Given the description of an element on the screen output the (x, y) to click on. 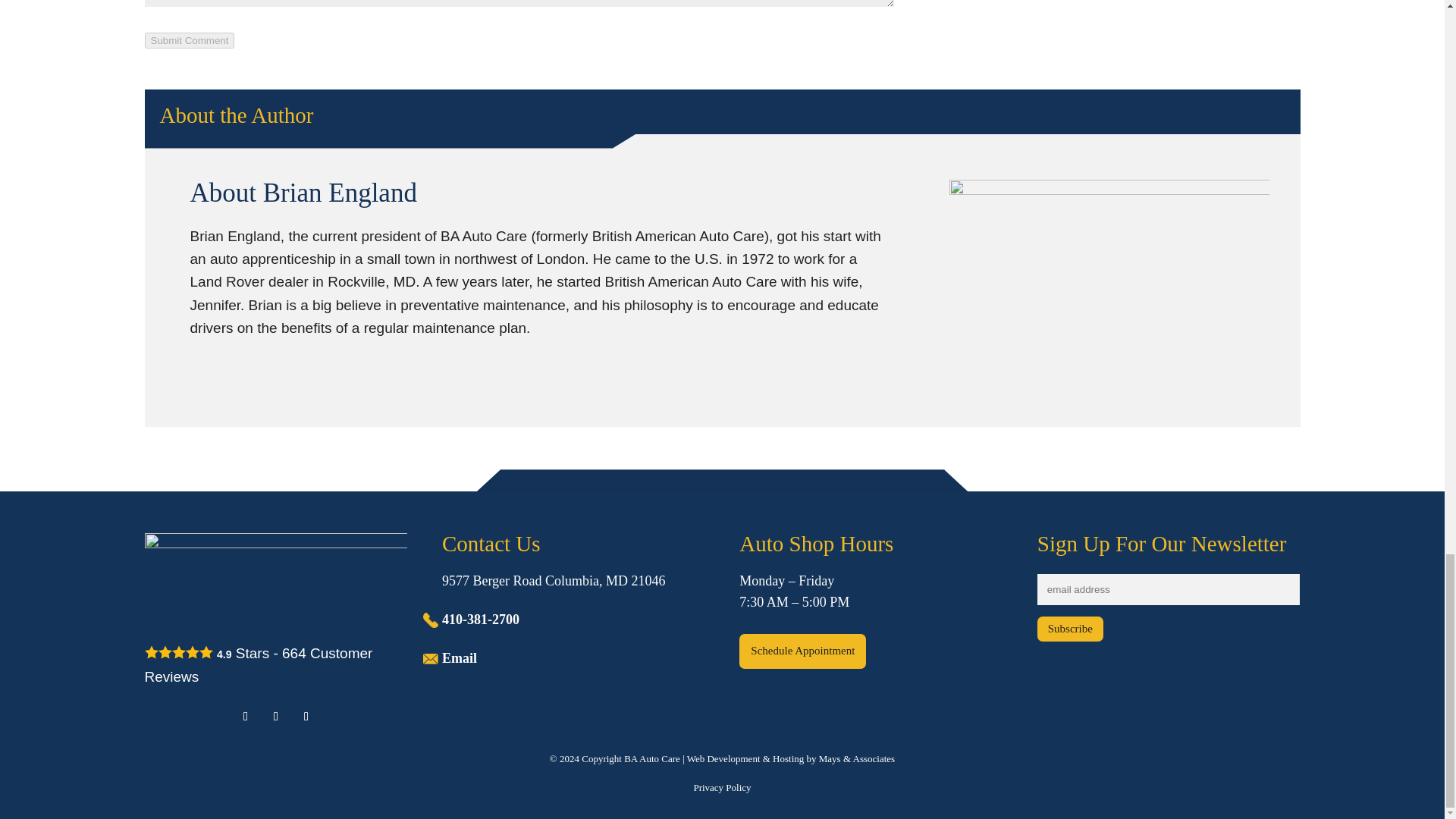
45th-Logo (275, 579)
brian (1109, 286)
Follow on X (275, 716)
Follow on Facebook (244, 716)
Subscribe (1069, 628)
Follow on Youtube (306, 716)
